Given the description of an element on the screen output the (x, y) to click on. 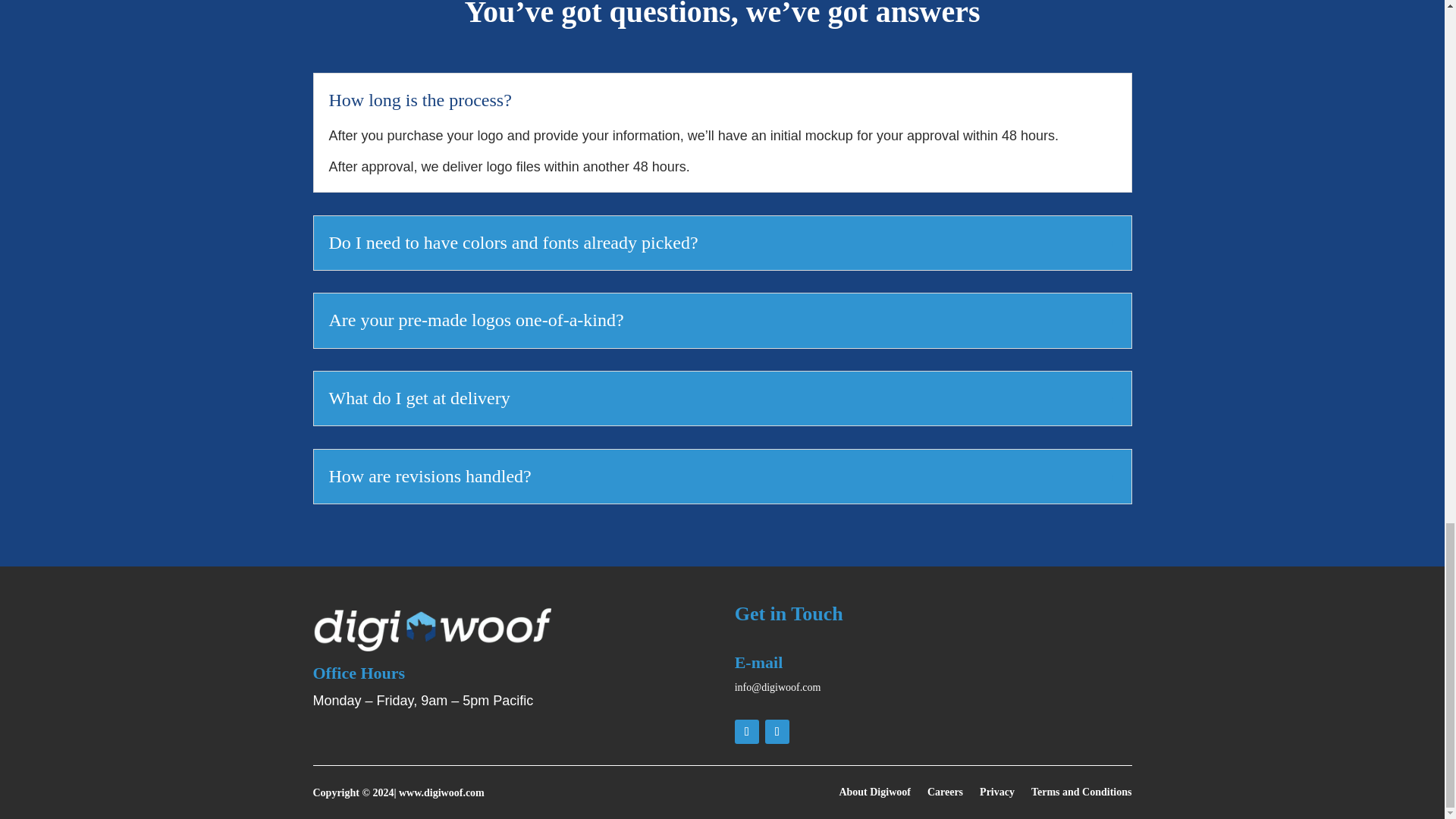
Follow on Facebook (746, 731)
digiwoofnewwhite (431, 627)
Follow on Instagram (777, 731)
